Given the description of an element on the screen output the (x, y) to click on. 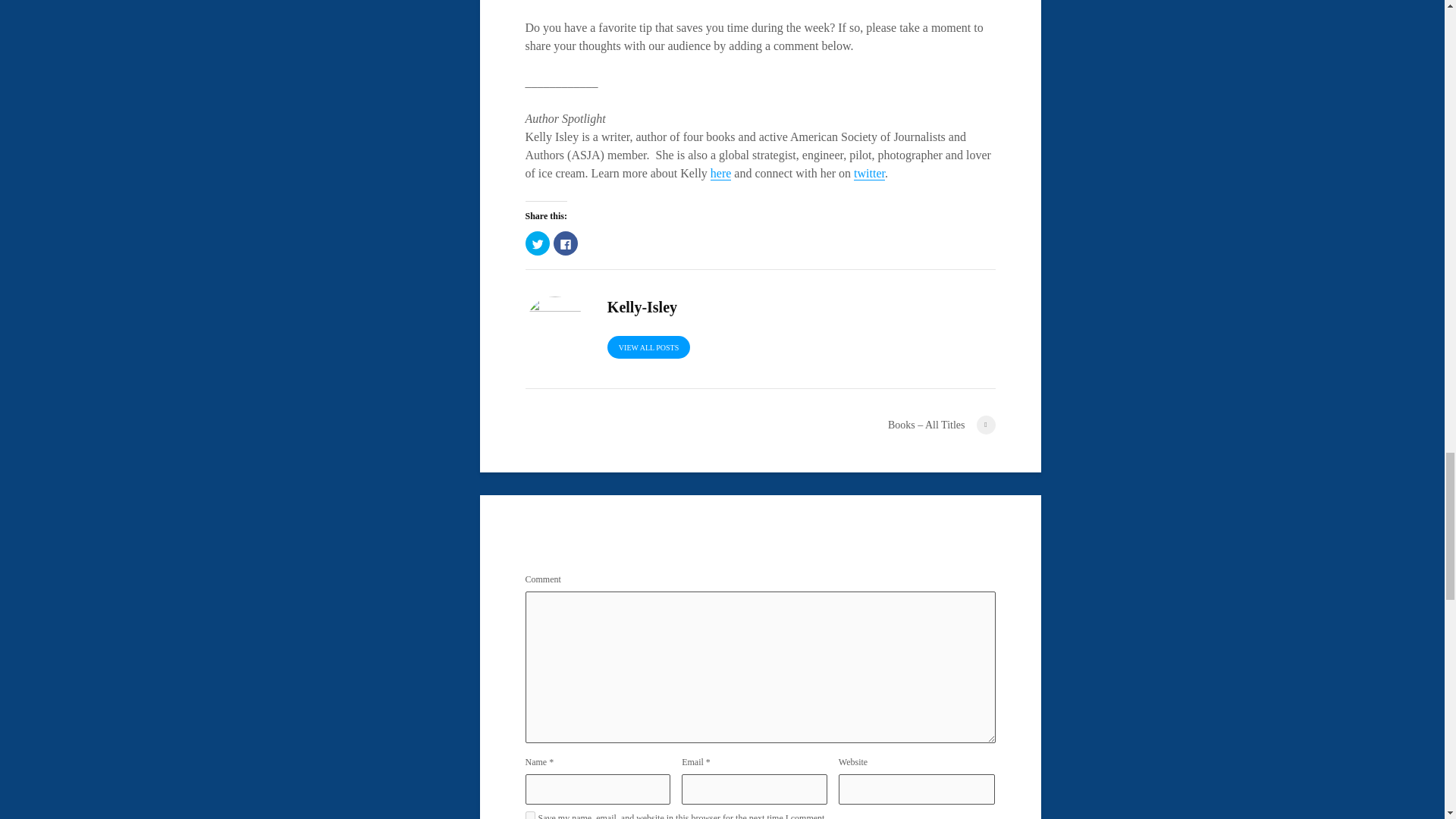
Click to share on Facebook (565, 242)
Click to share on Twitter (536, 242)
yes (529, 815)
